Given the description of an element on the screen output the (x, y) to click on. 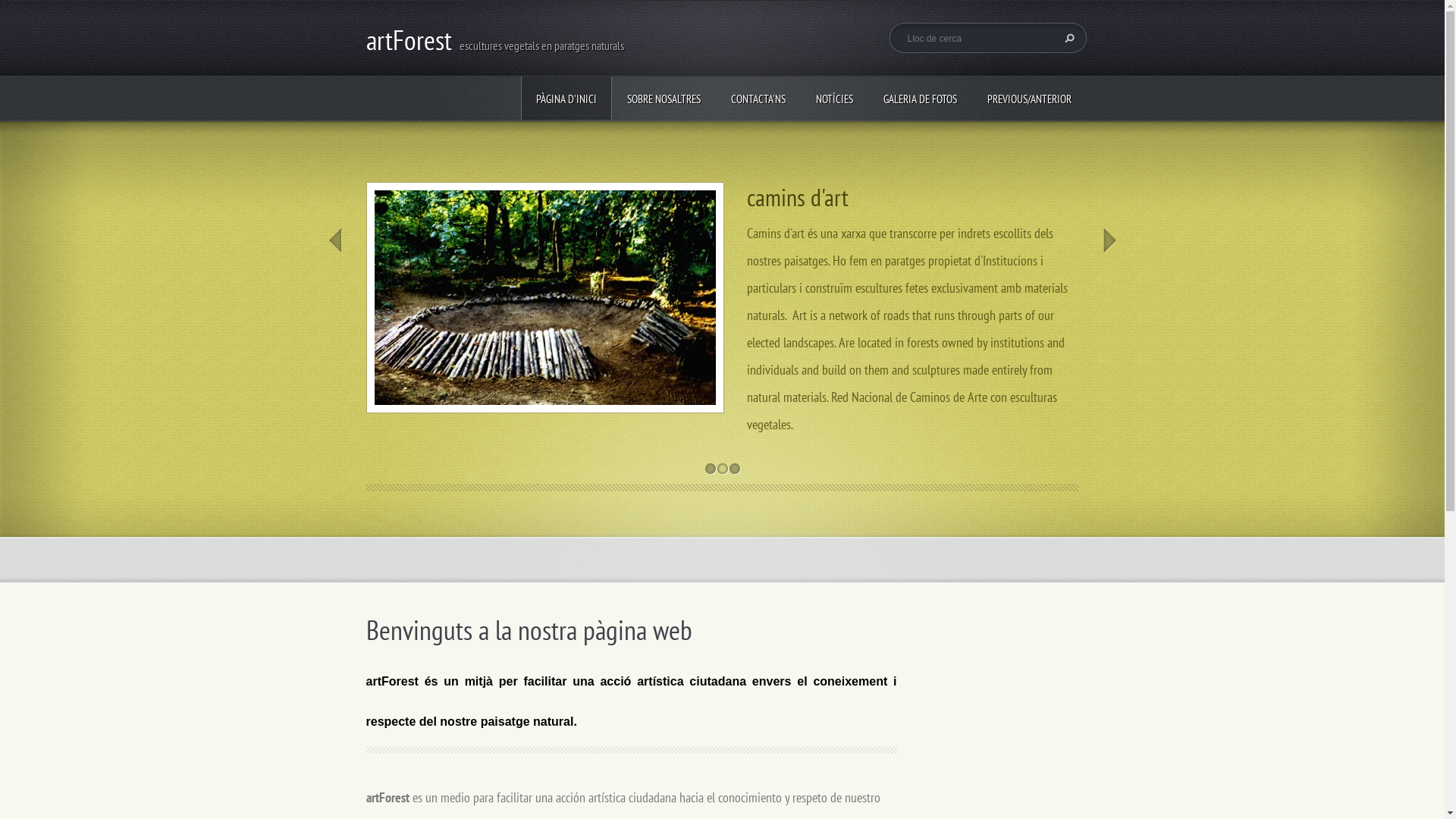
Veure el tema Element type: hover (544, 295)
Next Element type: text (1109, 240)
CONTACTA'NS Element type: text (757, 97)
1 Element type: text (709, 468)
SOBRE NOSALTRES Element type: text (663, 97)
2 Element type: text (721, 468)
GALERIA DE FOTOS Element type: text (919, 97)
PREVIOUS/ANTERIOR Element type: text (1029, 97)
3 Element type: text (734, 468)
camins d'art Element type: text (796, 197)
Cerca Element type: text (1066, 37)
Prev Element type: text (334, 240)
